Given the description of an element on the screen output the (x, y) to click on. 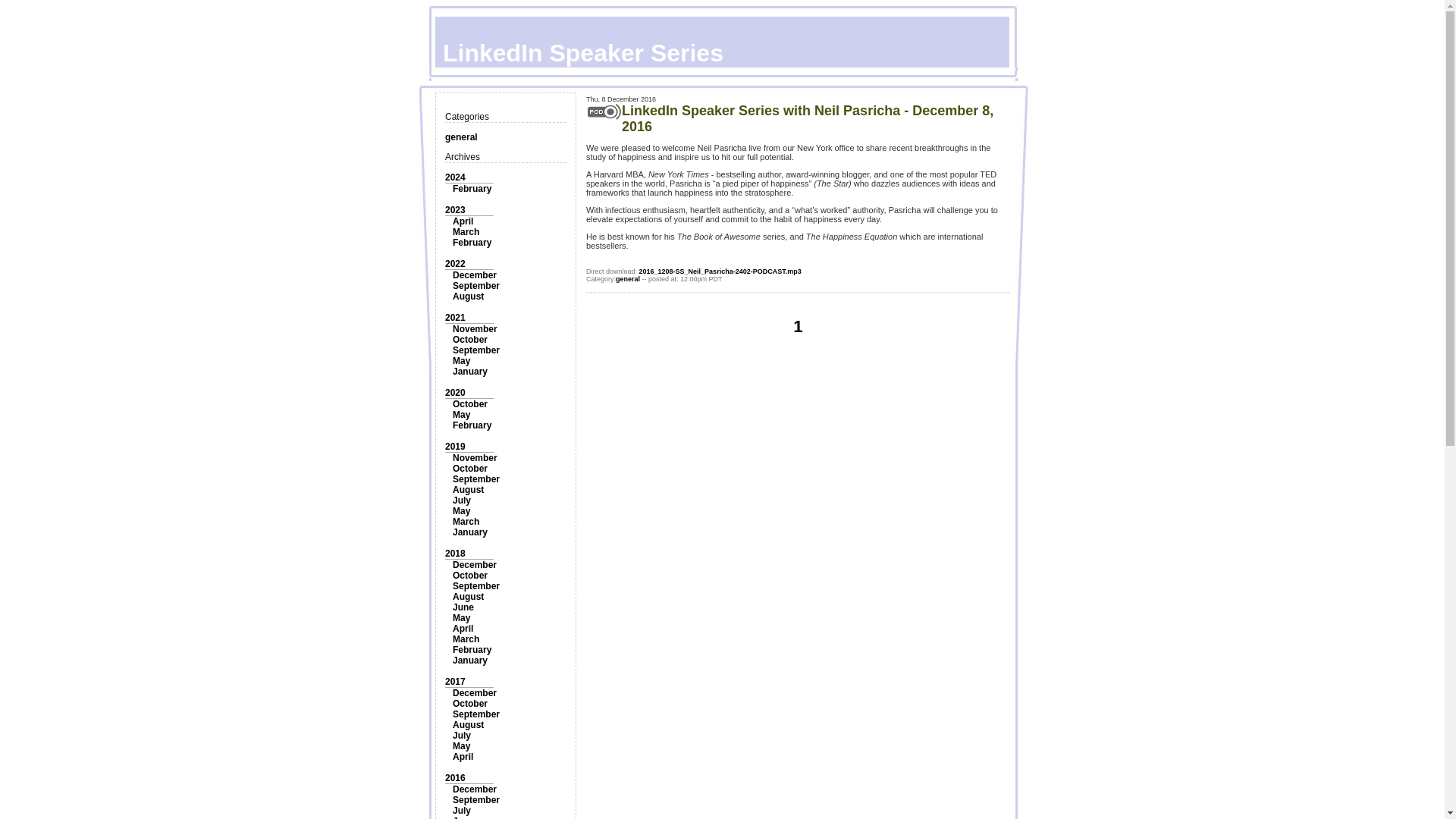
October (469, 403)
October (469, 575)
October (469, 468)
March (465, 638)
2019 (455, 446)
general (461, 136)
May (461, 360)
September (475, 585)
June (463, 606)
March (465, 521)
